Given the description of an element on the screen output the (x, y) to click on. 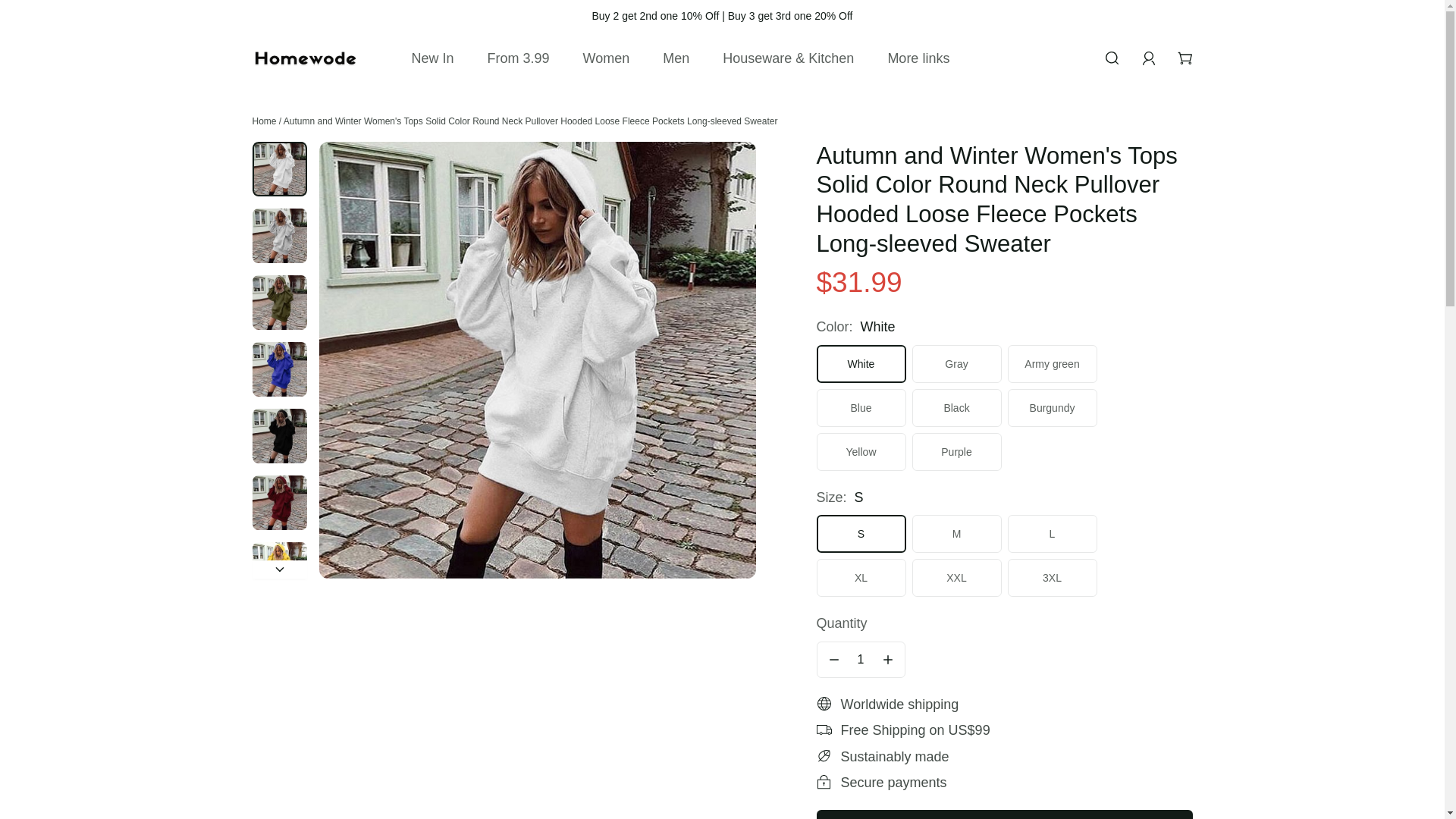
Women (606, 58)
1 (861, 659)
New In (432, 58)
From 3.99 (518, 58)
Men (676, 58)
